Given the description of an element on the screen output the (x, y) to click on. 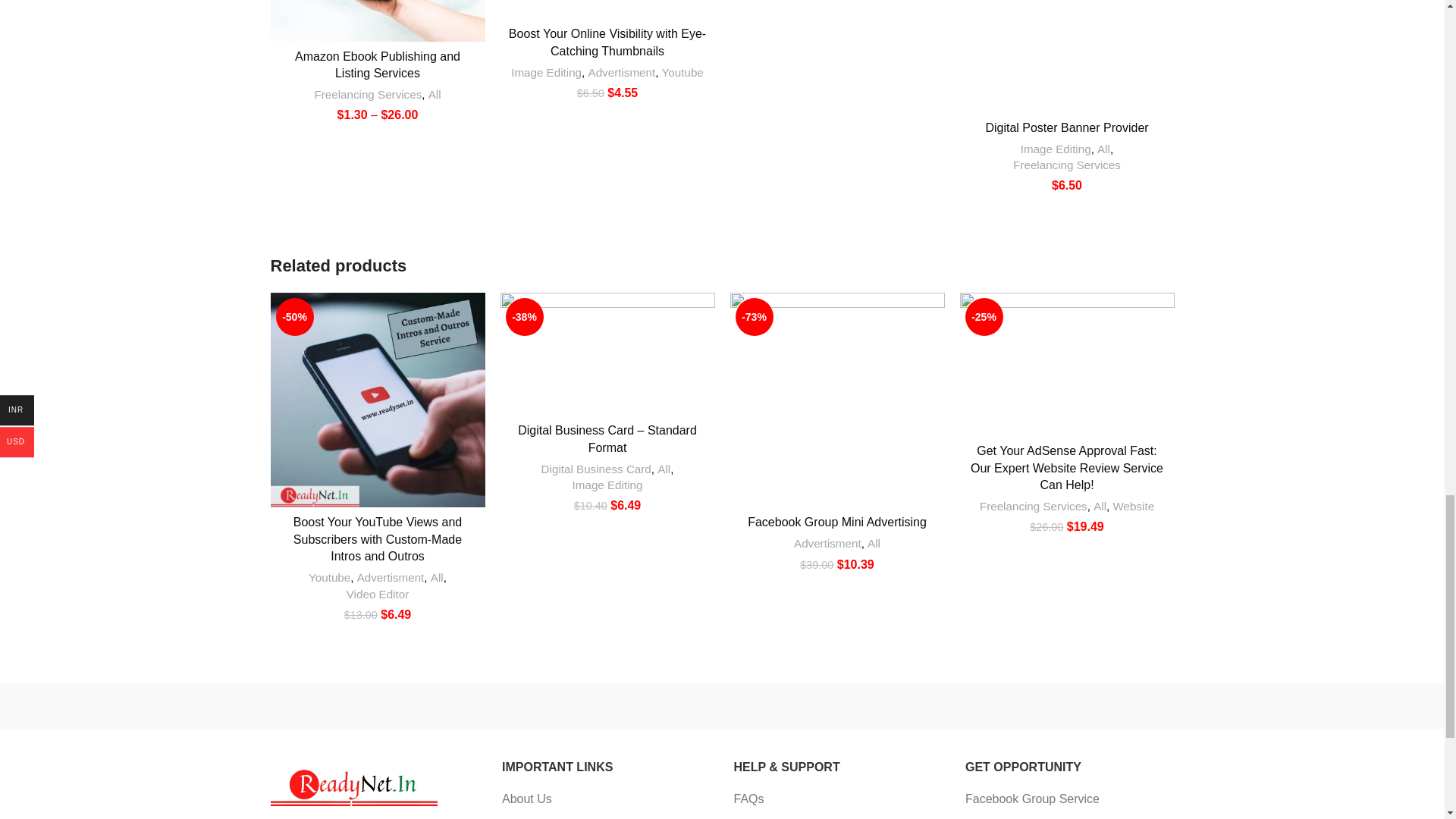
Just command (333, 706)
